Given the description of an element on the screen output the (x, y) to click on. 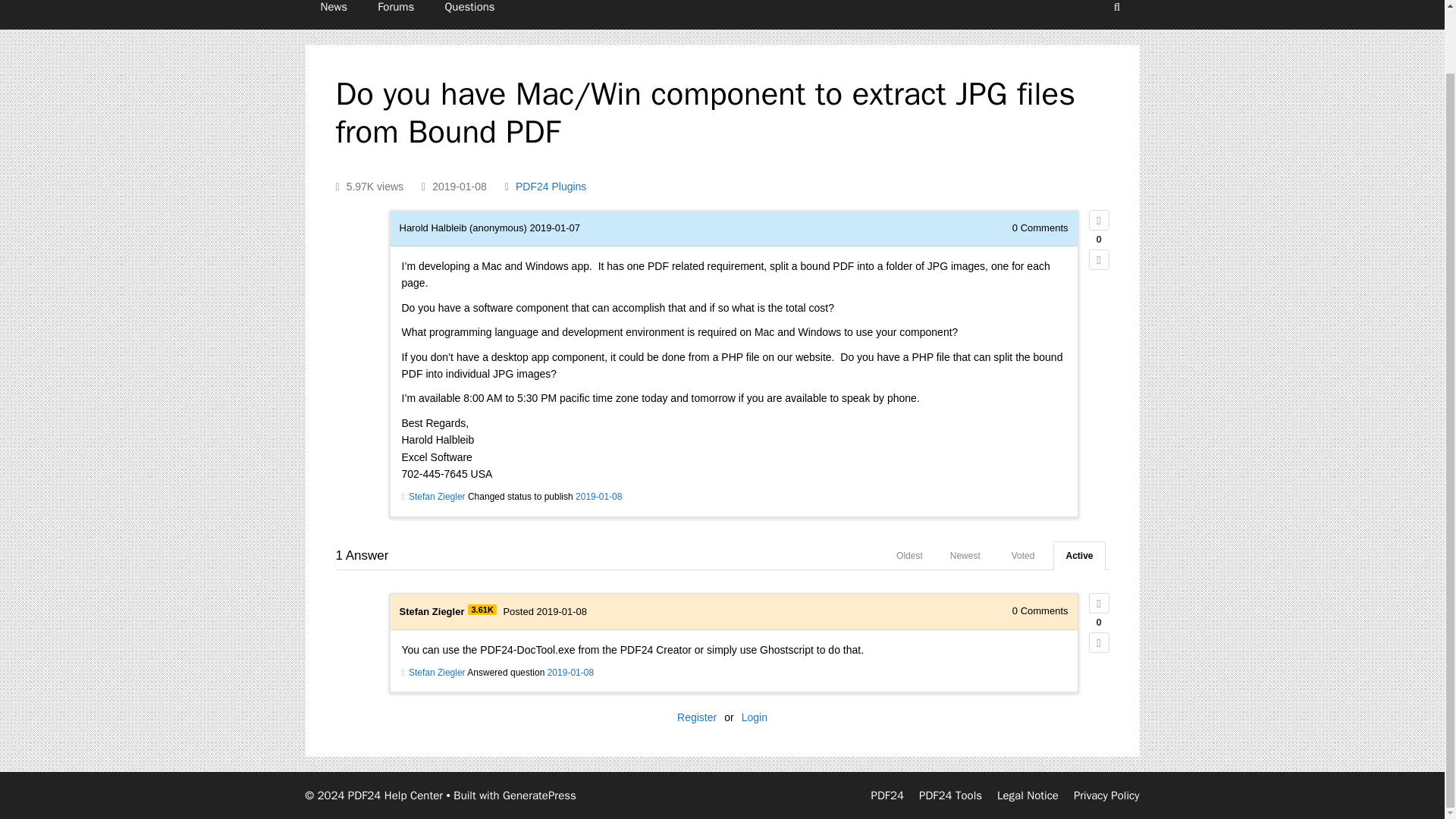
Login (754, 717)
News (333, 14)
PDF24 Tools (949, 795)
Down vote this question (1099, 259)
2019-01-08 (570, 672)
Reputation (481, 609)
Newest (964, 555)
Stefan Ziegler (431, 611)
Down vote this answer (1099, 642)
2019-01-08 (598, 496)
Questions (469, 14)
PDF24 Plugins (550, 186)
Legal Notice (1027, 795)
Oldest (908, 555)
Up vote this question (1099, 219)
